Given the description of an element on the screen output the (x, y) to click on. 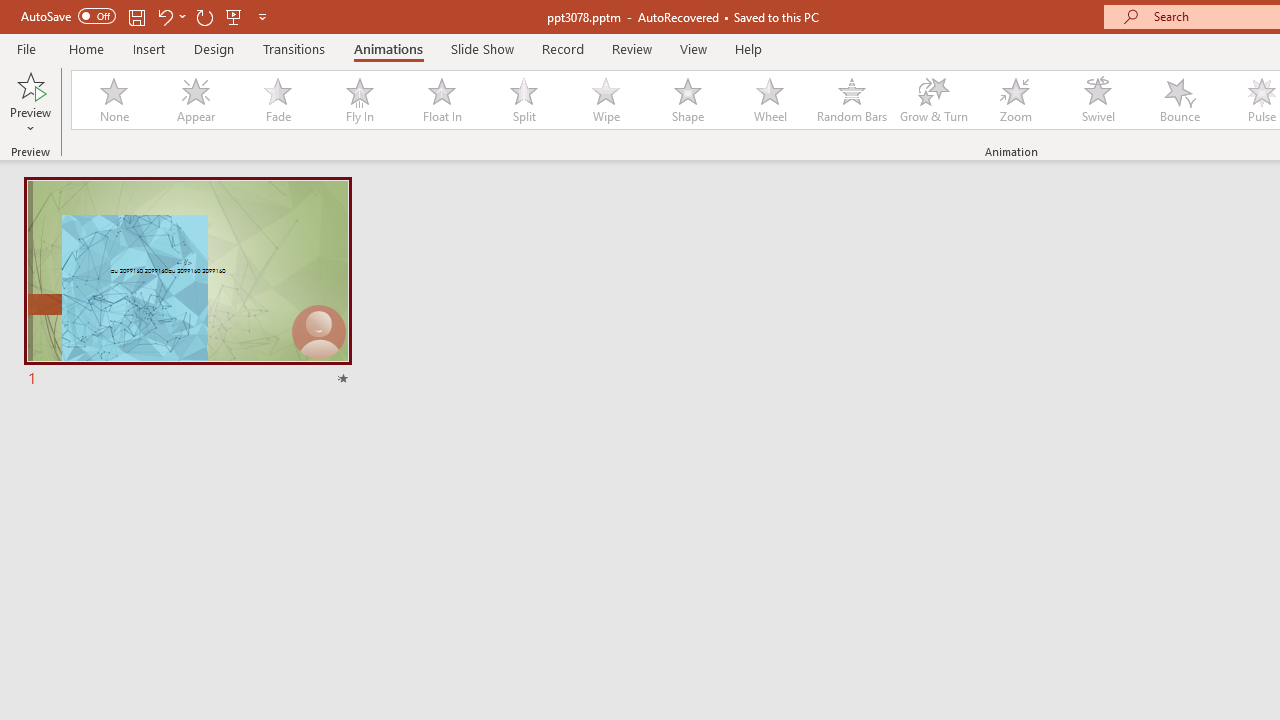
Float In (441, 100)
Fly In (359, 100)
Appear (195, 100)
